Given the description of an element on the screen output the (x, y) to click on. 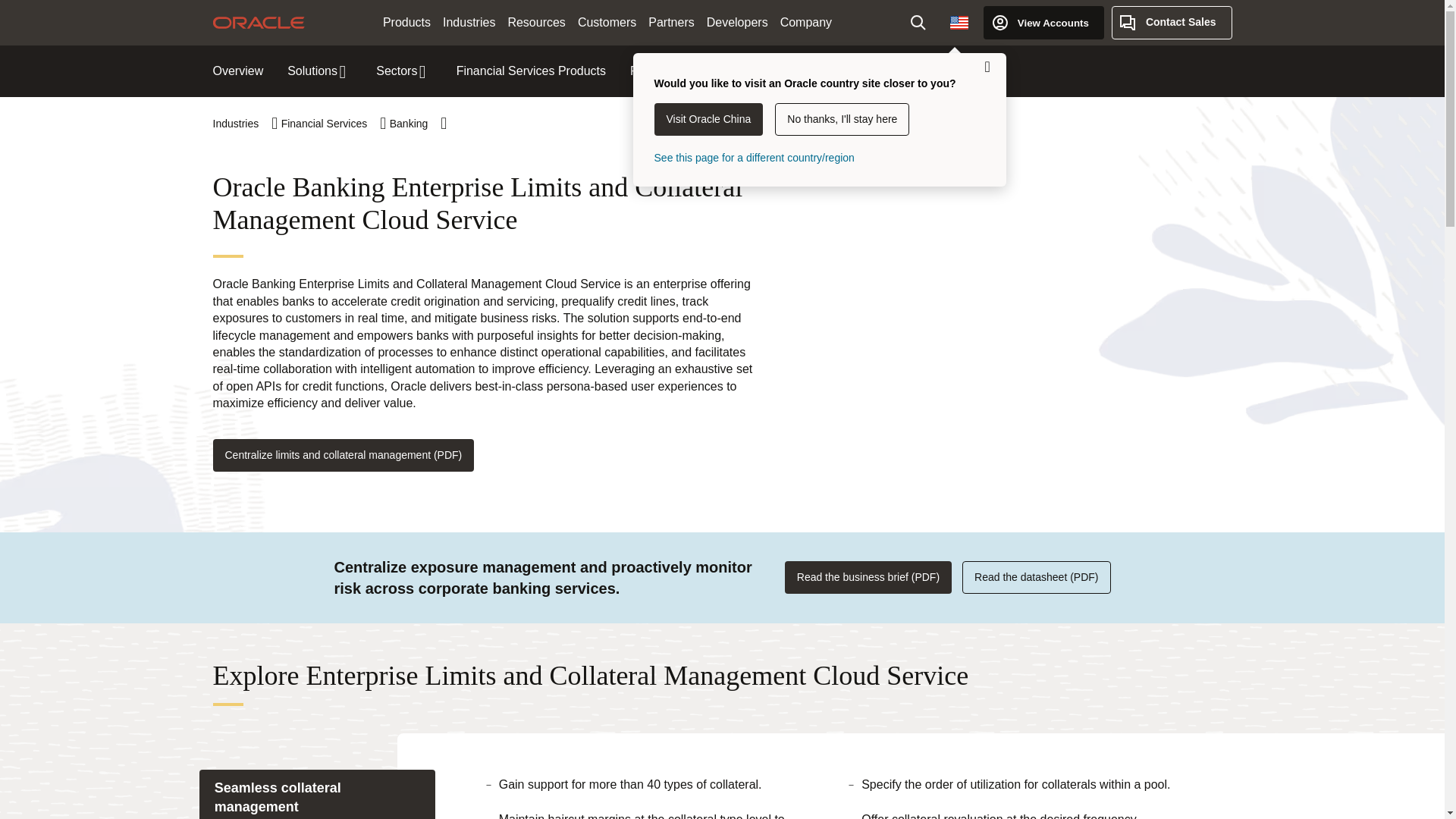
View Accounts (1043, 22)
Products (406, 22)
No thanks, I'll stay here (841, 119)
Industries (468, 22)
Developers (737, 22)
Country (958, 22)
Contact Sales (1171, 22)
Customers (607, 22)
Visit Oracle China (707, 119)
Resources (535, 22)
Company (806, 22)
Overview (237, 71)
Partners (671, 22)
Contact Sales (1171, 22)
